Given the description of an element on the screen output the (x, y) to click on. 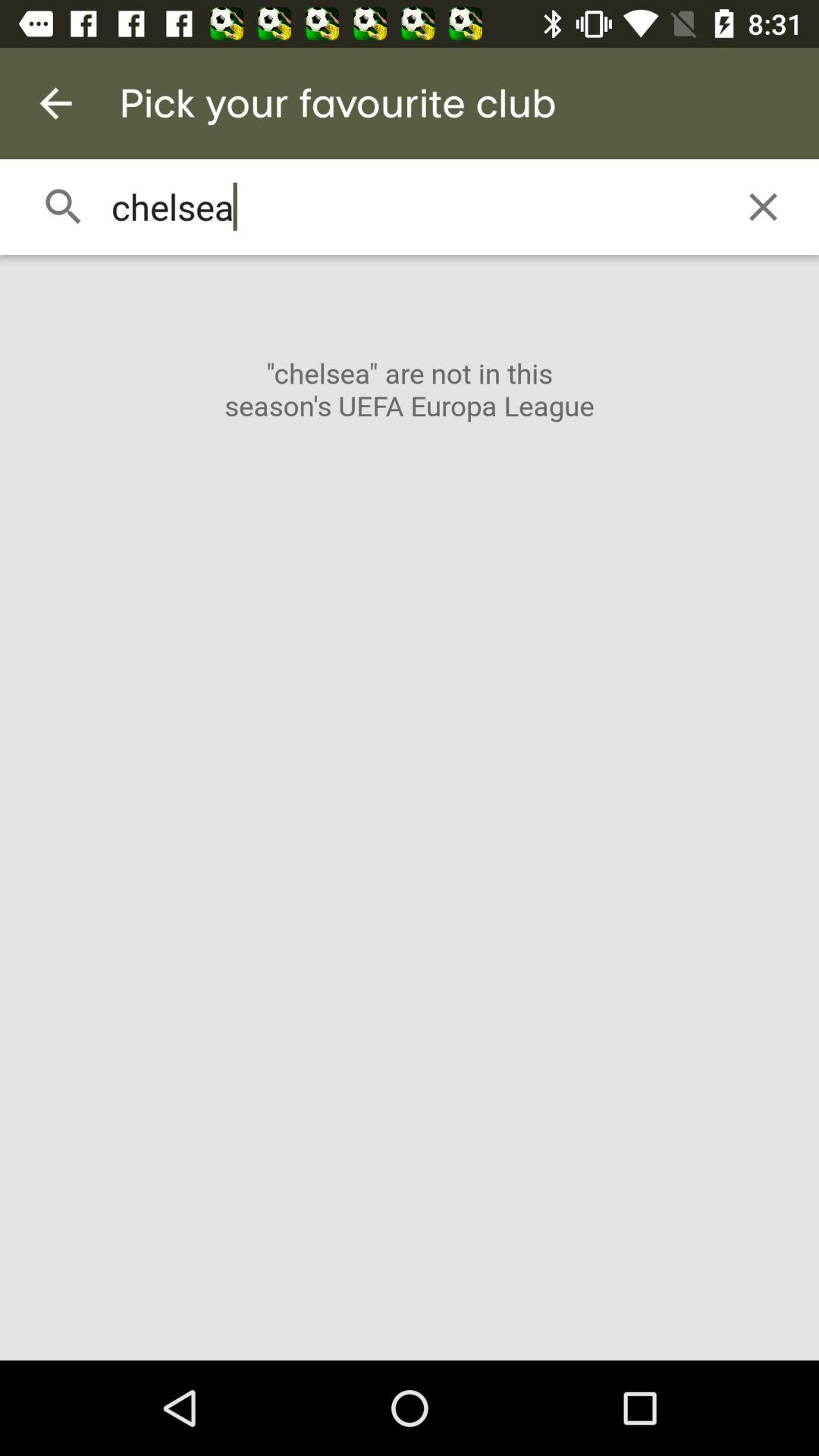
tap the item above chelsea icon (55, 103)
